Given the description of an element on the screen output the (x, y) to click on. 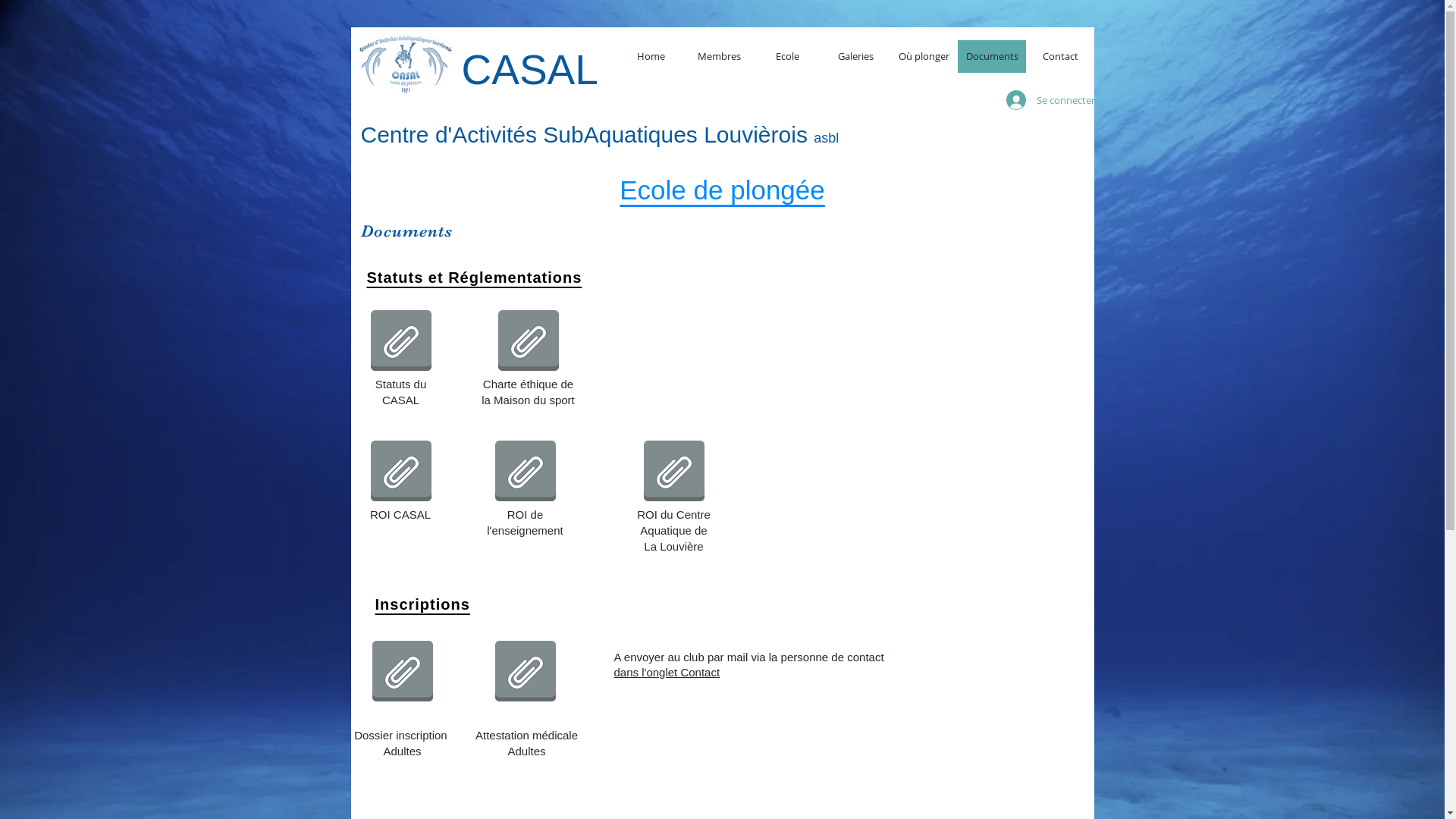
4._ROI_POINT_DEAU.pdf Element type: hover (674, 472)
dossier adultes 2023.pdf Element type: hover (402, 672)
dans l'onglet Contact Element type: text (667, 671)
Se connecter Element type: text (1039, 99)
Galeries Element type: text (854, 56)
Ecole Element type: text (786, 56)
Home Element type: text (649, 56)
Membres Element type: text (718, 56)
Contact Element type: text (1059, 56)
ROI enseignement 2020.pdf Element type: hover (525, 472)
1. Statut Casal 2022.pdf Element type: hover (401, 341)
2016_attestation_medicale_adulte.pdf Element type: hover (525, 672)
ROI CASAL 2020.pdf Element type: hover (401, 472)
Documents Element type: text (991, 56)
